Given the description of an element on the screen output the (x, y) to click on. 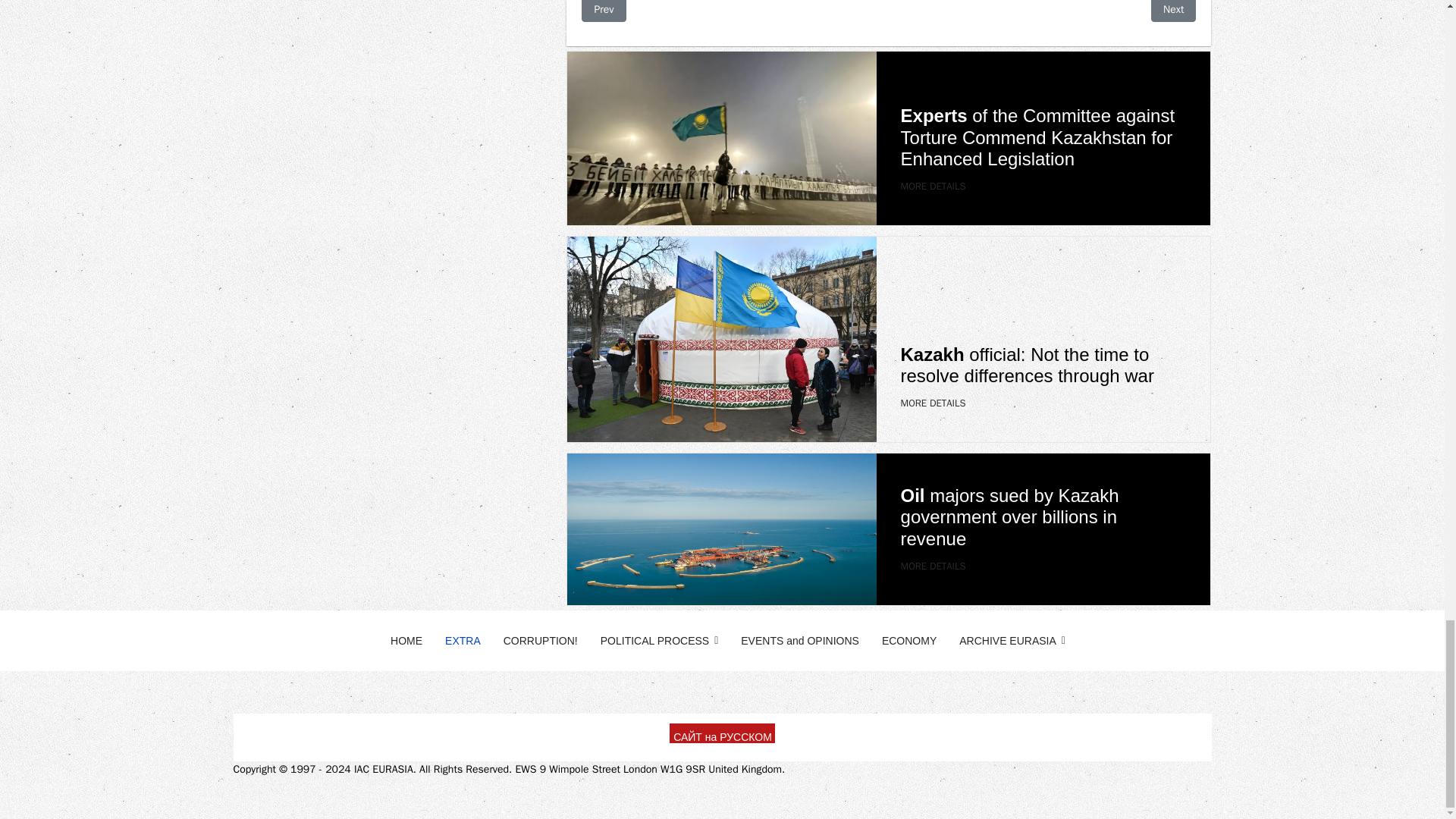
MORE DETAILS (933, 565)
HOME (405, 640)
MORE DETAILS (933, 402)
EXTRA (462, 640)
MORE DETAILS (933, 185)
CORRUPTION! (540, 640)
POLITICAL PROCESS (659, 640)
EVENTS and OPINIONS (799, 640)
